Given the description of an element on the screen output the (x, y) to click on. 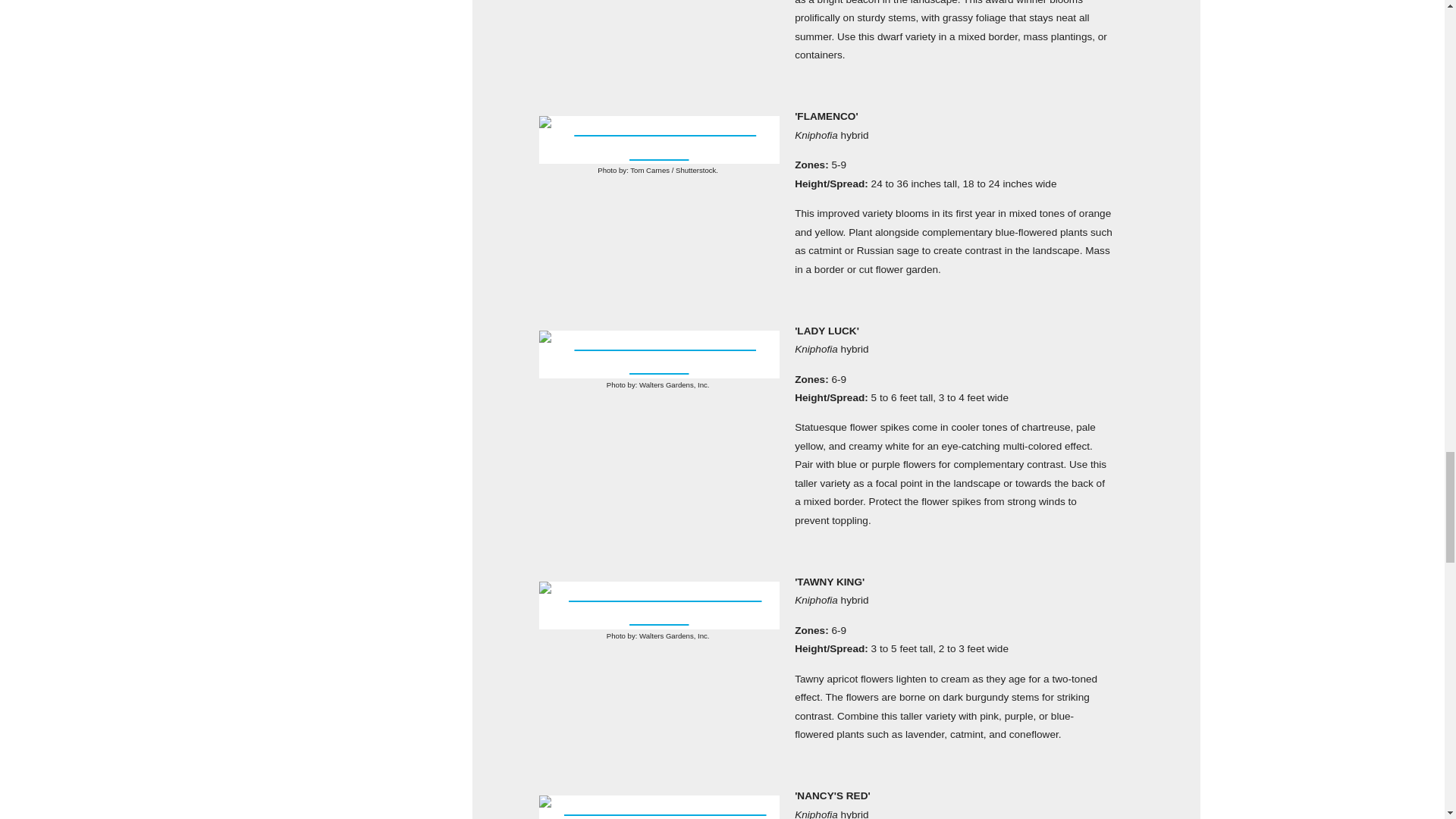
'LADY LUCK' RED HOT POKER (658, 354)
'TAWNY KING' RED HOT POKER (658, 605)
'FLAMENCO' RED HOT POKER (658, 139)
'NANCY'S RED' RED HOT POKER (658, 807)
